Given the description of an element on the screen output the (x, y) to click on. 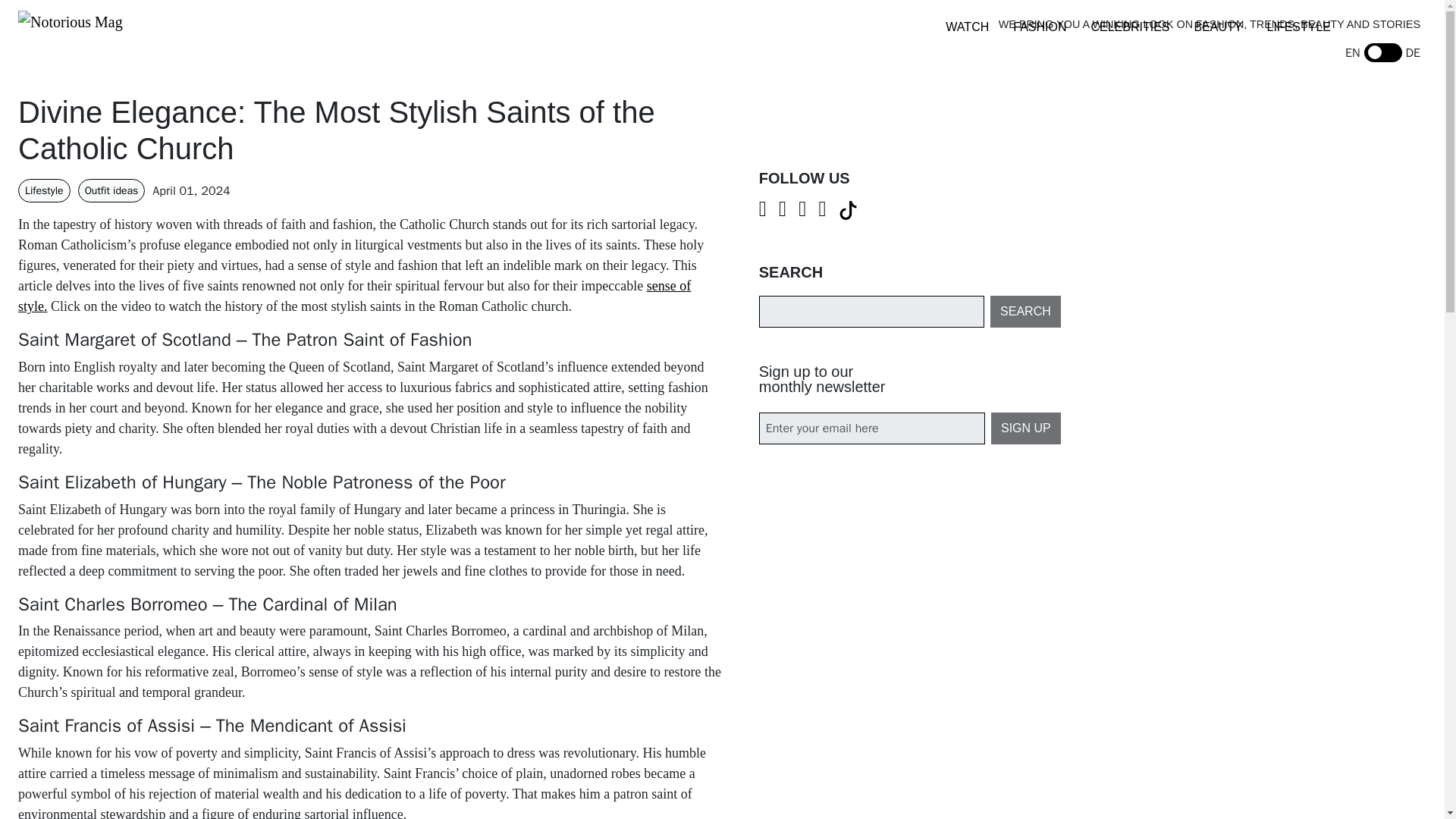
sense of style. (353, 295)
Lifestyle (43, 190)
LIFESTYLE (1298, 27)
Outfit ideas (111, 190)
BEAUTY (1217, 27)
CELEBRITIES (1129, 27)
WATCH (966, 27)
FASHION (1039, 27)
